Given the description of an element on the screen output the (x, y) to click on. 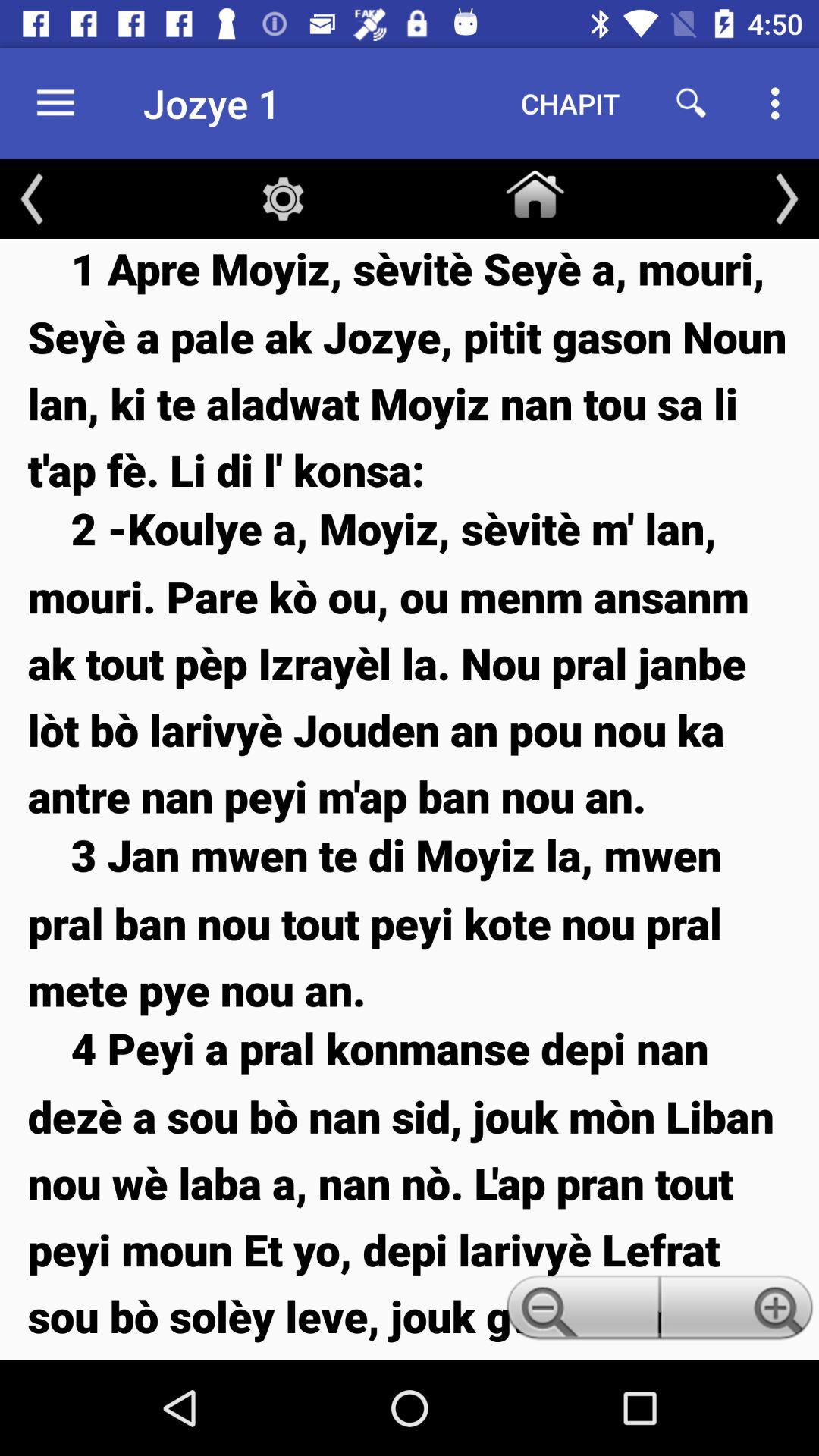
press item above the 1 apre moyiz icon (535, 190)
